Given the description of an element on the screen output the (x, y) to click on. 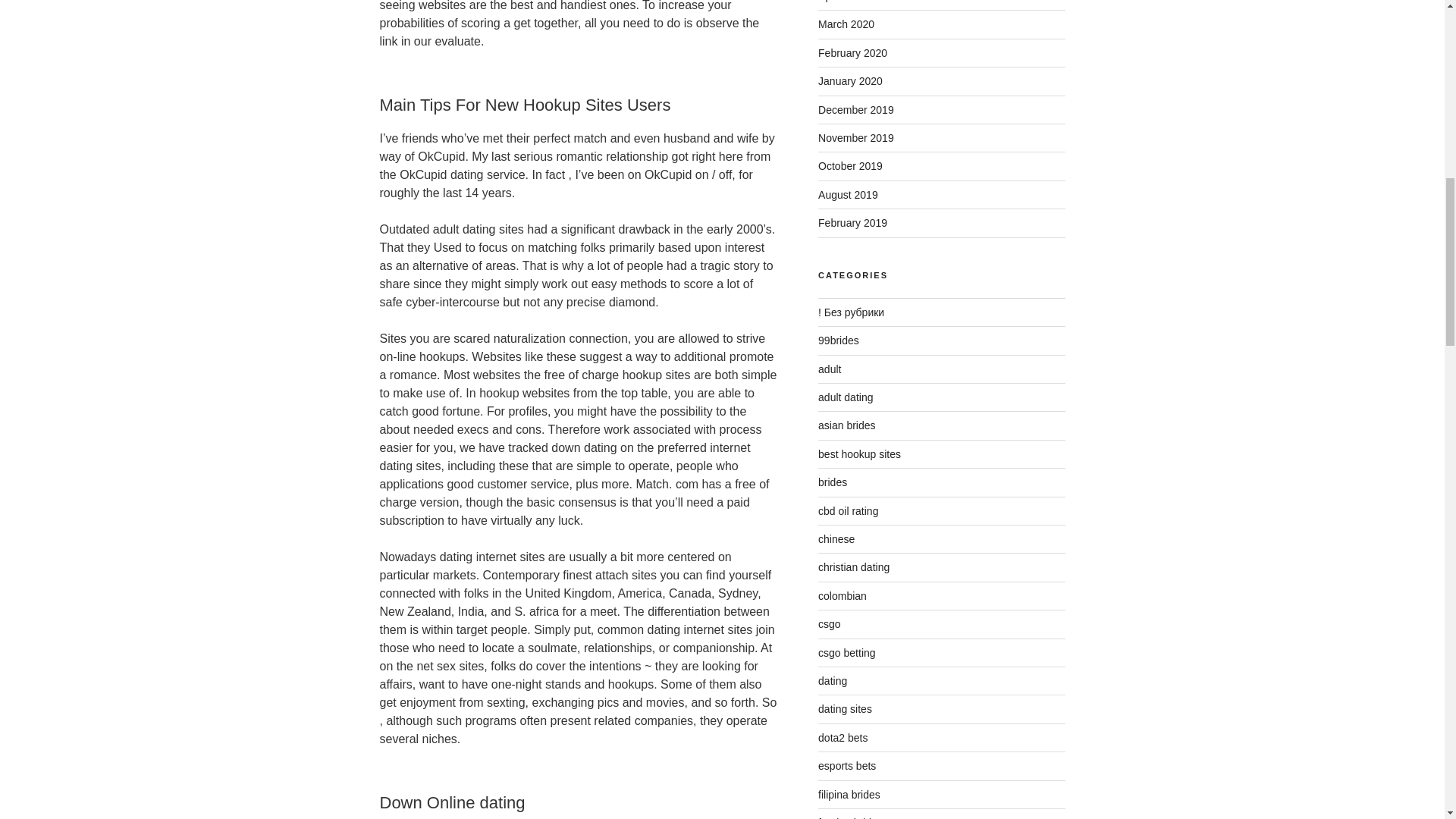
cbd oil rating (847, 510)
adult dating (845, 397)
November 2019 (855, 137)
brides (832, 481)
February 2019 (852, 223)
asian brides (847, 425)
chinese (836, 539)
December 2019 (855, 110)
adult (829, 369)
October 2019 (850, 165)
April 2020 (842, 1)
February 2020 (852, 52)
January 2020 (850, 80)
99brides (838, 340)
best hookup sites (859, 453)
